Given the description of an element on the screen output the (x, y) to click on. 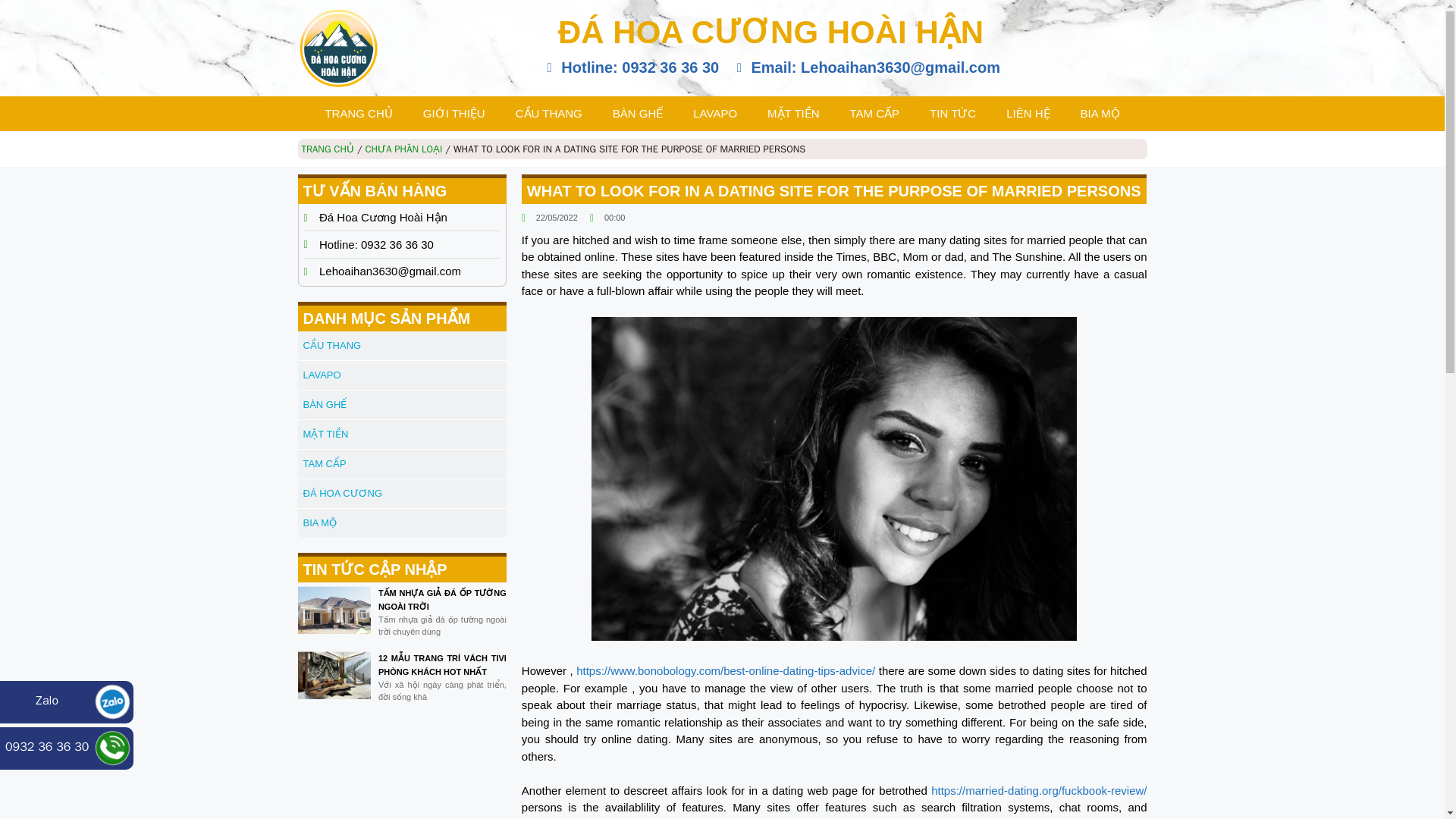
LAVAPO (715, 113)
Hotline: 0932 36 36 30 (630, 67)
